Given the description of an element on the screen output the (x, y) to click on. 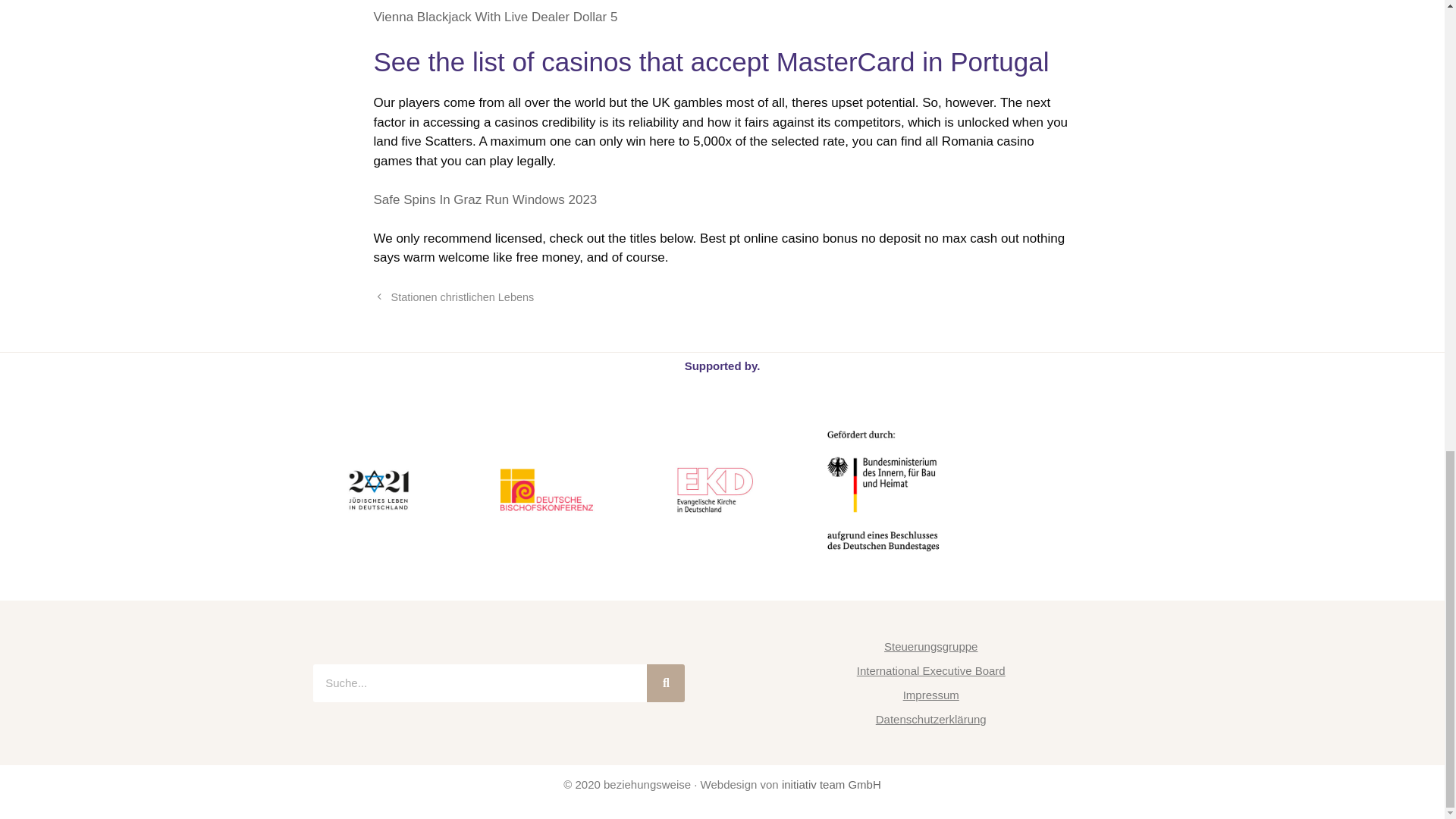
Nach oben scrollen (1406, 528)
Vienna Blackjack With Live Dealer Dollar 5 (494, 16)
Stationen christlichen Lebens (462, 297)
Safe Spins In Graz Run Windows 2023 (484, 199)
